Given the description of an element on the screen output the (x, y) to click on. 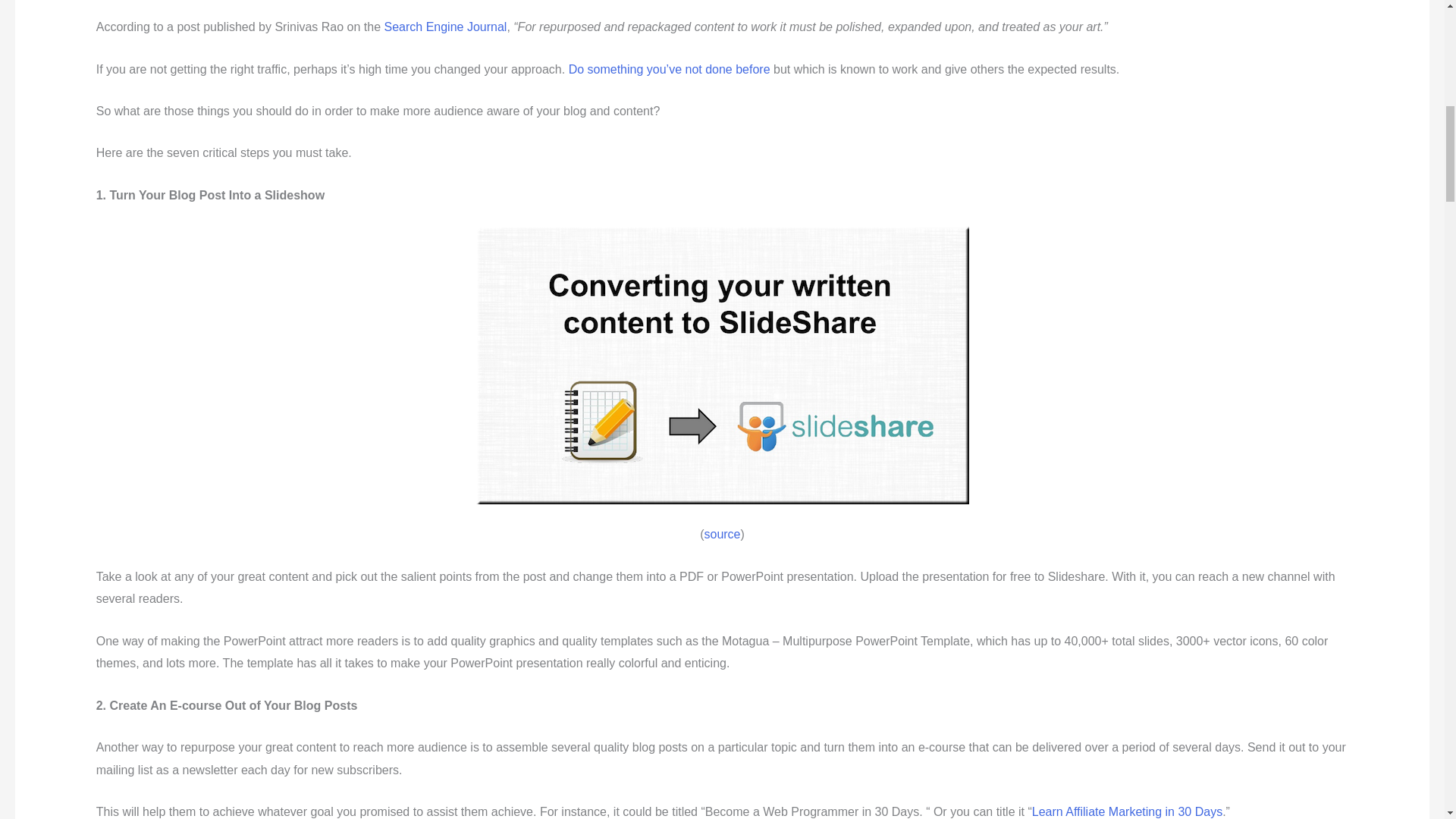
source (721, 533)
Search Engine Journal (445, 26)
Learn Affiliate Marketing in 30 Days (1127, 811)
